Given the description of an element on the screen output the (x, y) to click on. 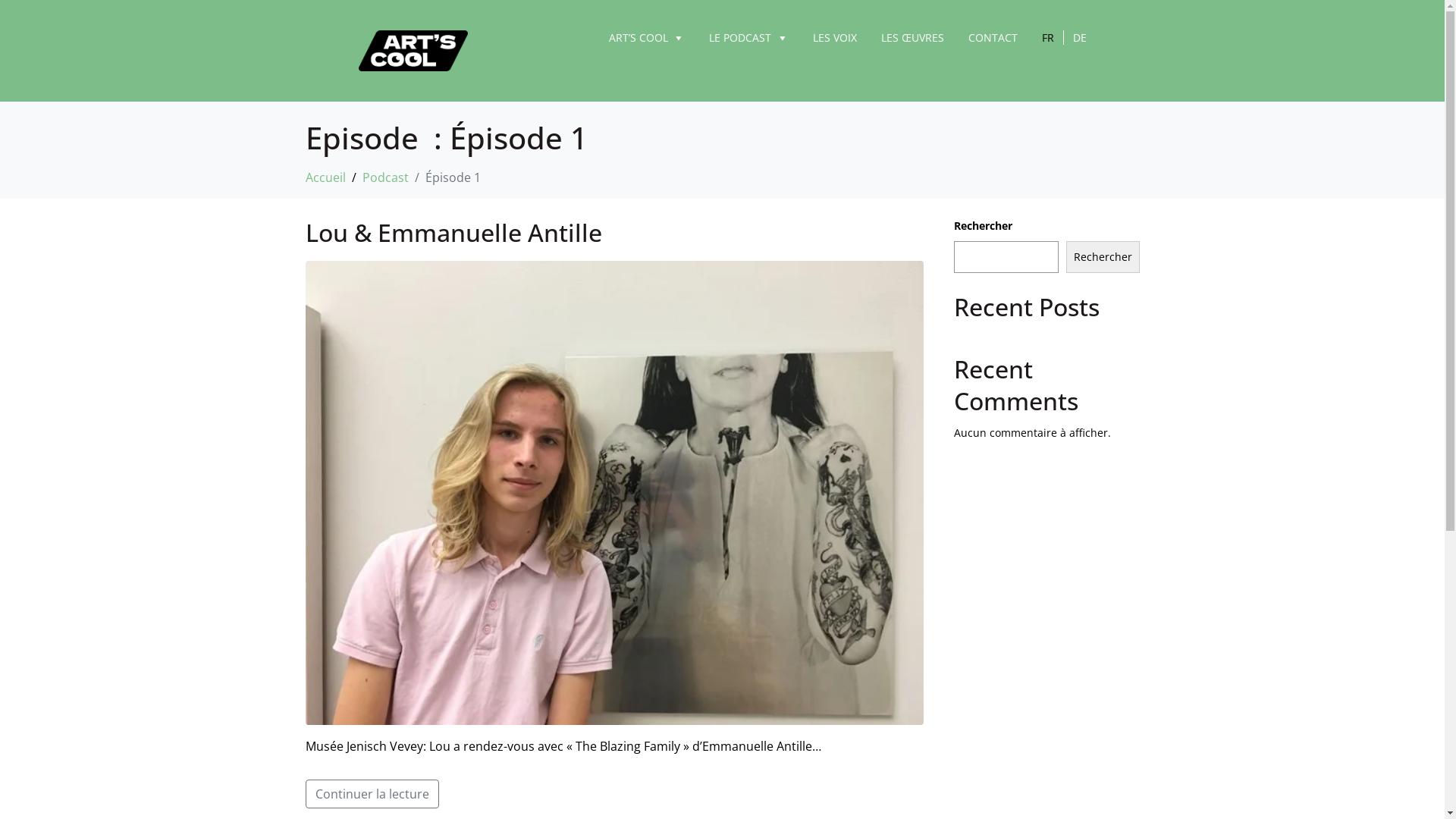
CONTACT Element type: text (991, 37)
FR Element type: text (1052, 37)
Rechercher Element type: text (1102, 257)
Continuer la lecture Element type: text (371, 793)
Accueil Element type: text (324, 177)
LE PODCAST Element type: text (748, 37)
DE Element type: text (1078, 37)
Lou & Emmanuelle Antille Element type: text (452, 232)
Lou & Emmanuelle Antille Element type: hover (613, 491)
Podcast Element type: text (385, 177)
LES VOIX Element type: text (834, 37)
